Given the description of an element on the screen output the (x, y) to click on. 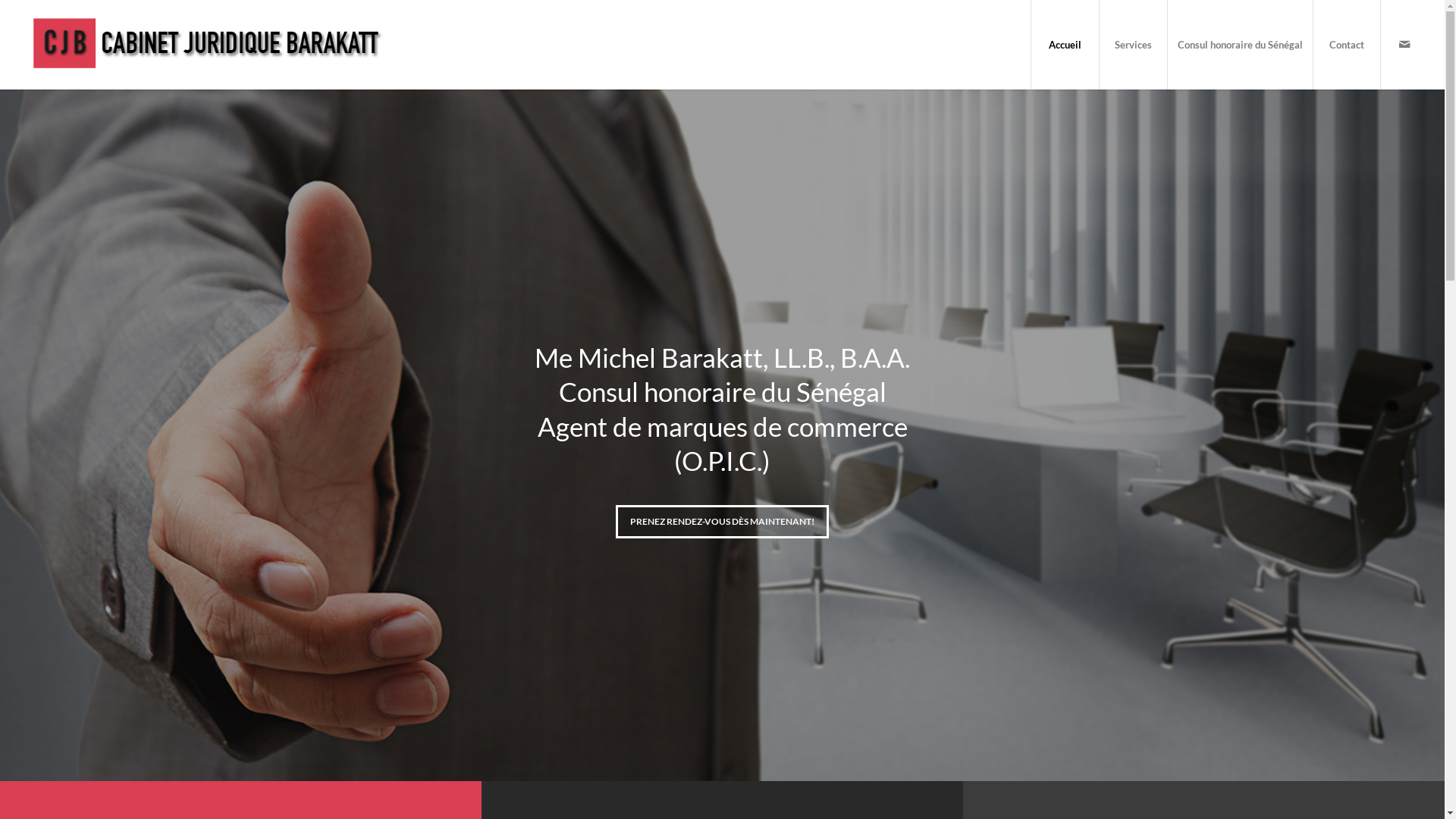
Services Element type: text (1132, 44)
Contact Element type: text (1346, 44)
Accueil Element type: text (1064, 44)
Mail Element type: hover (1404, 43)
barakatt-societe-avocat Element type: hover (722, 434)
